Given the description of an element on the screen output the (x, y) to click on. 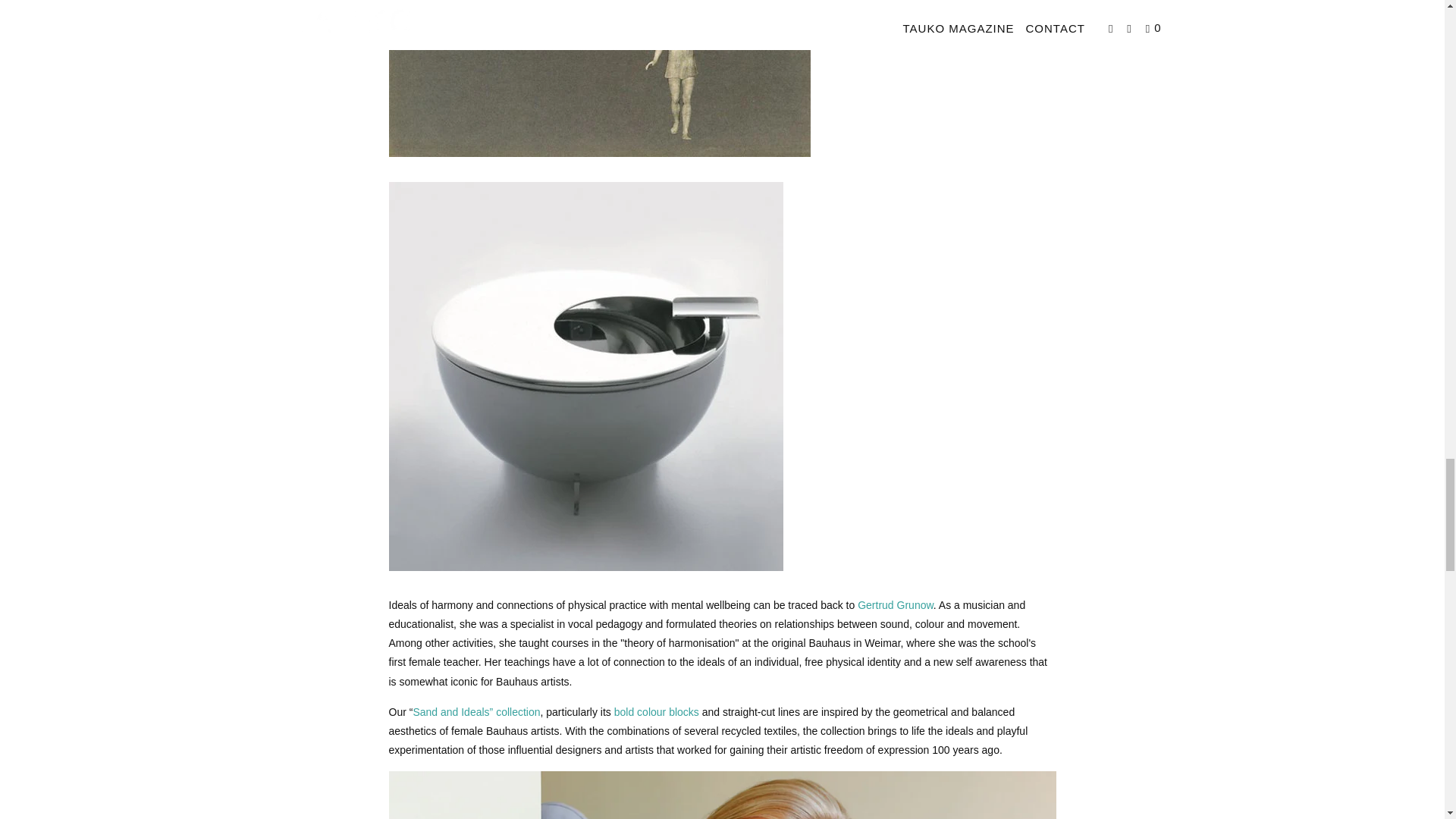
Gertrud Grunow (895, 604)
bold colour blocks (656, 711)
Gertrud Grunow (895, 604)
sand and ideals (476, 711)
bold colour blocks (656, 711)
